Given the description of an element on the screen output the (x, y) to click on. 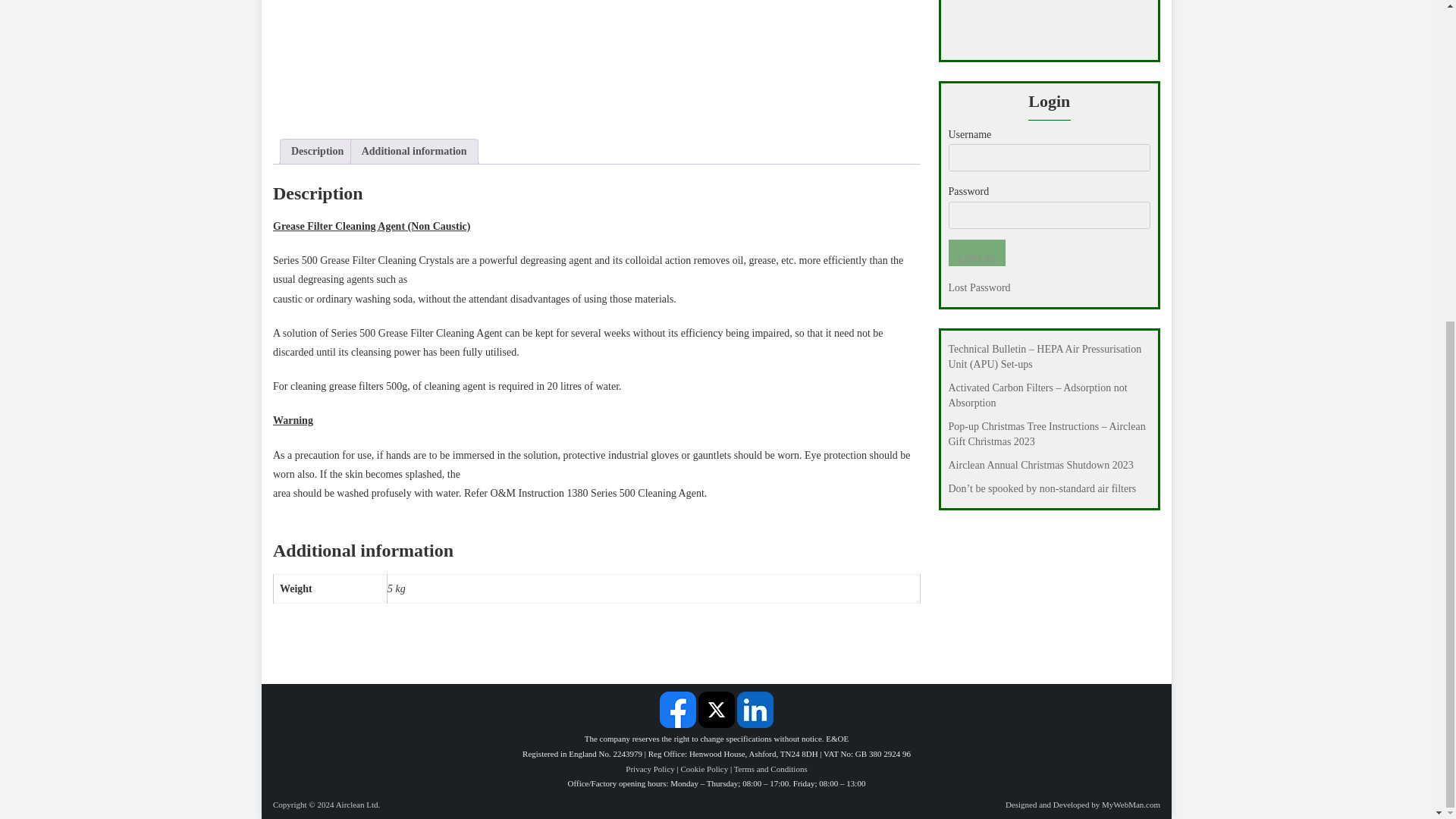
Log In (975, 252)
